Given the description of an element on the screen output the (x, y) to click on. 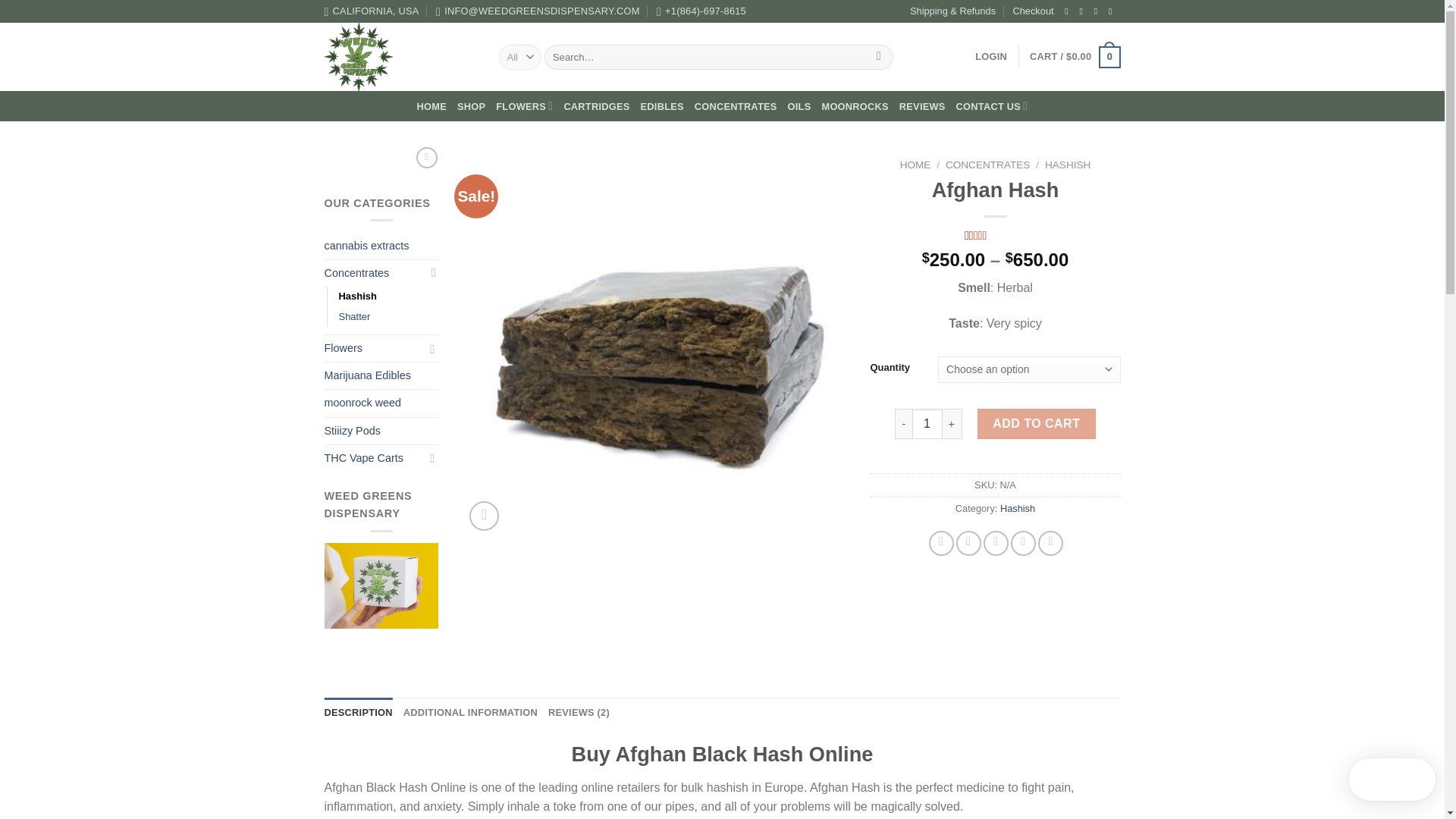
California, USA (371, 11)
Concentrates (373, 273)
CALIFORNIA, USA (371, 11)
1 (927, 423)
Cart (1074, 57)
CONCENTRATES (735, 106)
OILS (798, 106)
SHOP (470, 106)
EDIBLES (662, 106)
weedgreensdispensary - Buy Weed Online (400, 56)
FLOWERS (524, 105)
Zoom (483, 515)
CONTACT US (991, 105)
Shatter (353, 317)
MOONROCKS (854, 106)
